Given the description of an element on the screen output the (x, y) to click on. 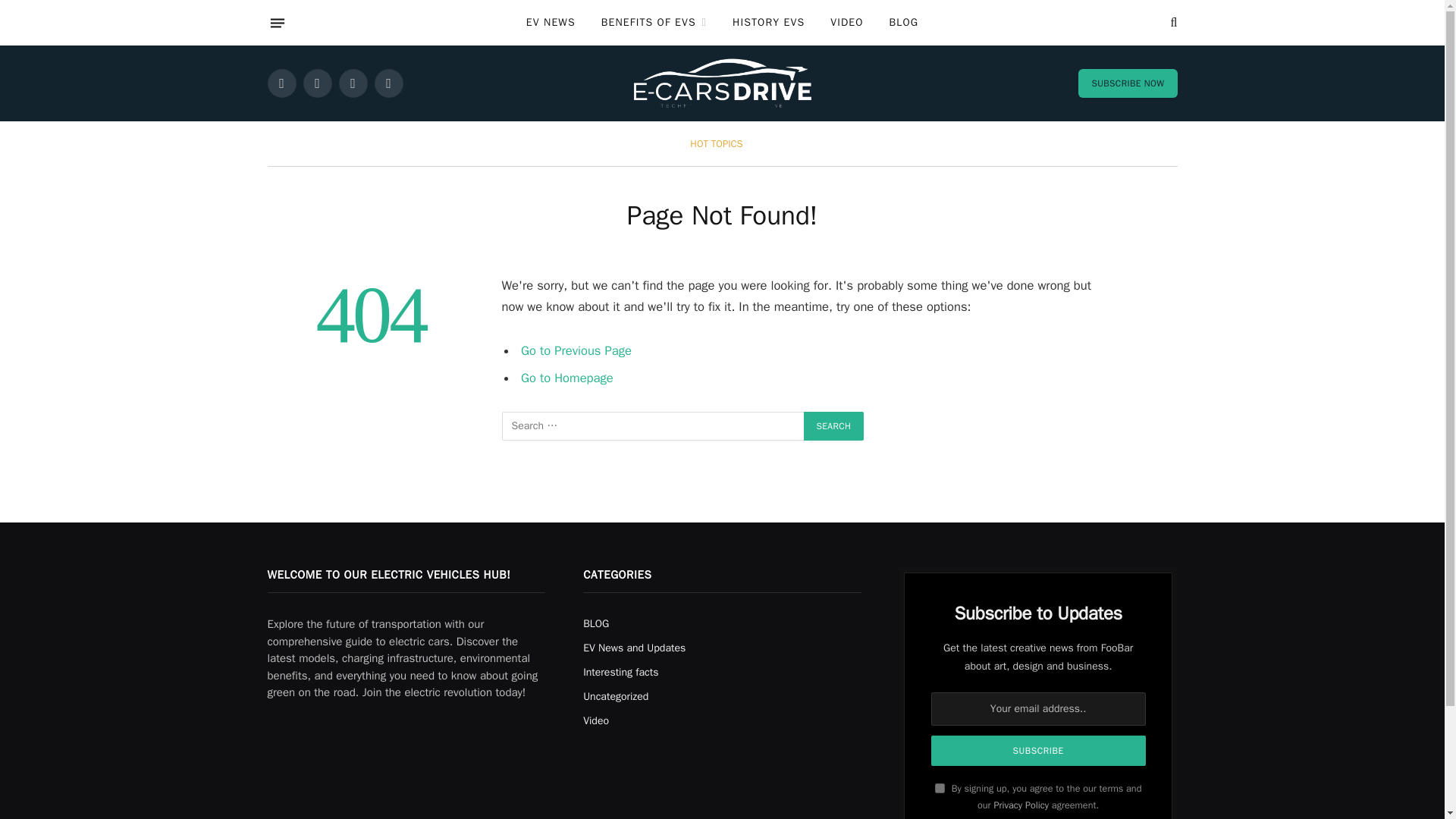
Go to Previous Page (576, 350)
Instagram (351, 82)
BENEFITS OF EVS (653, 22)
BLOG (903, 22)
Search (833, 425)
Facebook (280, 82)
Subscribe (1038, 750)
Ecars Drive (721, 83)
VIDEO (846, 22)
EV NEWS (550, 22)
Search (833, 425)
SUBSCRIBE NOW (1127, 82)
on (939, 787)
HISTORY EVS (767, 22)
Pinterest (388, 82)
